Given the description of an element on the screen output the (x, y) to click on. 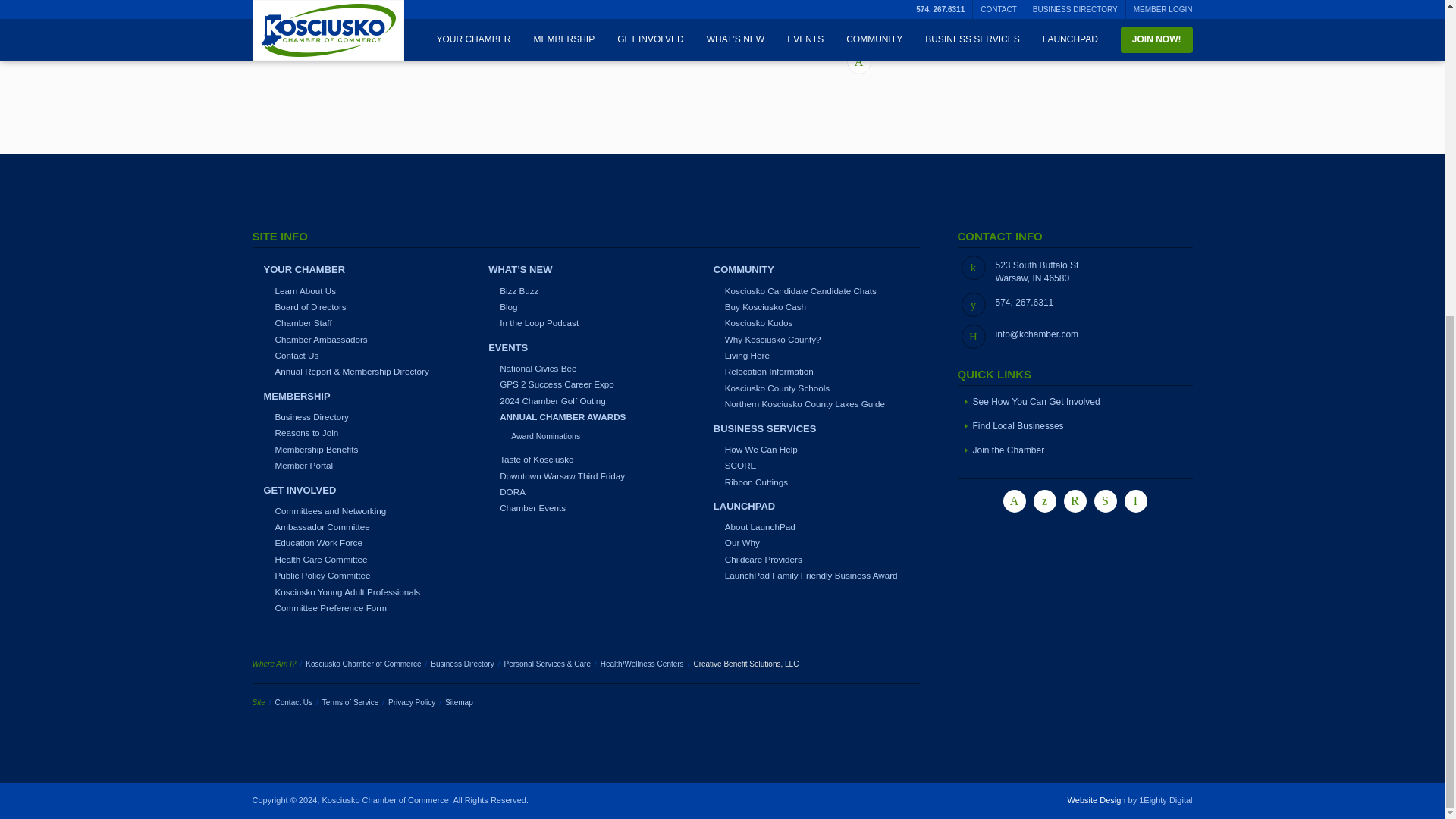
Go to Kosciusko Chamber of Commerce. (362, 664)
Go to Business Directory. (461, 664)
